Given the description of an element on the screen output the (x, y) to click on. 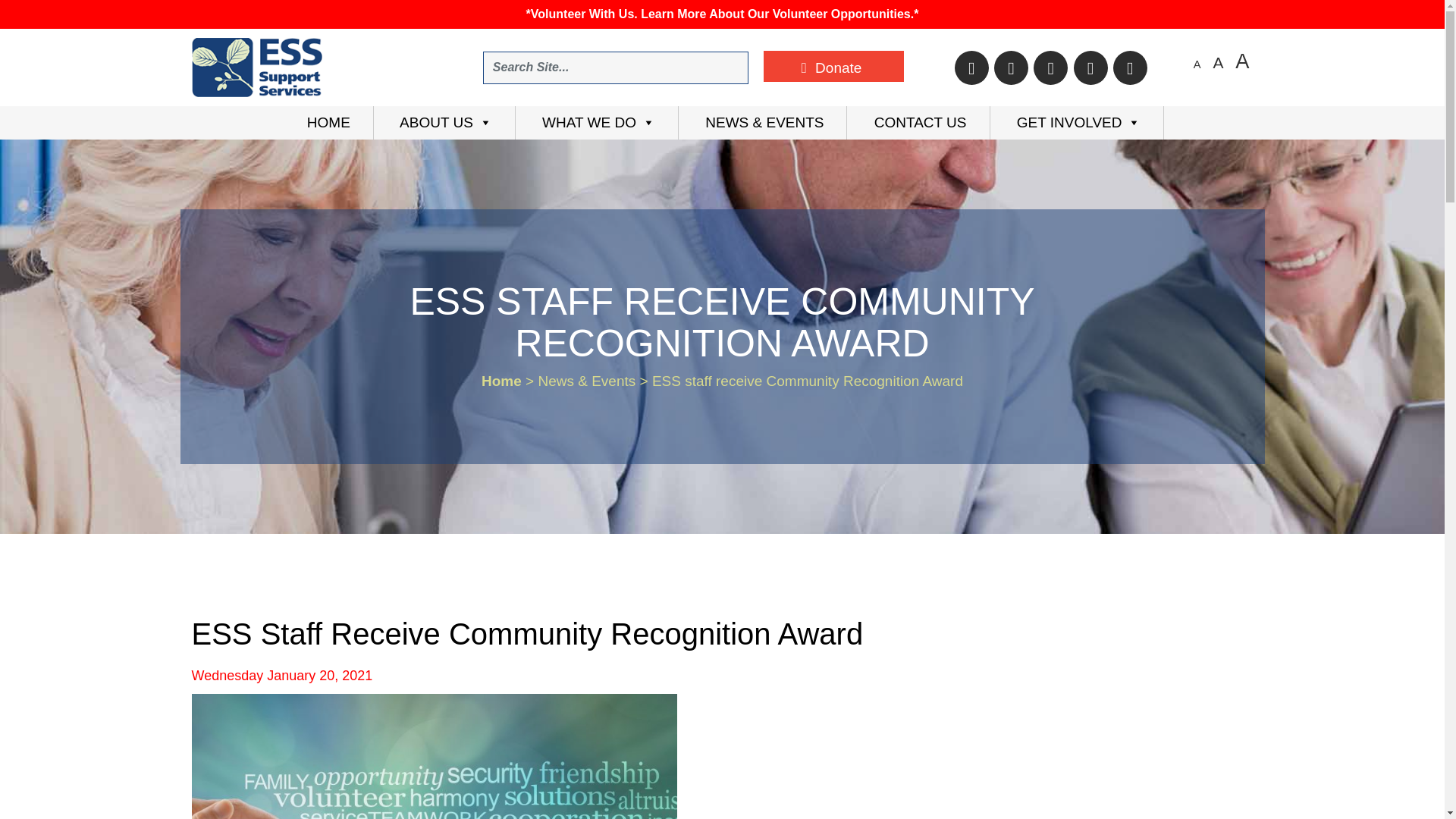
 WHAT WE DO (1199, 64)
Search (596, 122)
Decrease font size (32, 14)
 CONTACT US (1199, 64)
Donate (918, 122)
 ABOUT US (833, 65)
 HOME (444, 122)
 GET INVOLVED (327, 122)
